Given the description of an element on the screen output the (x, y) to click on. 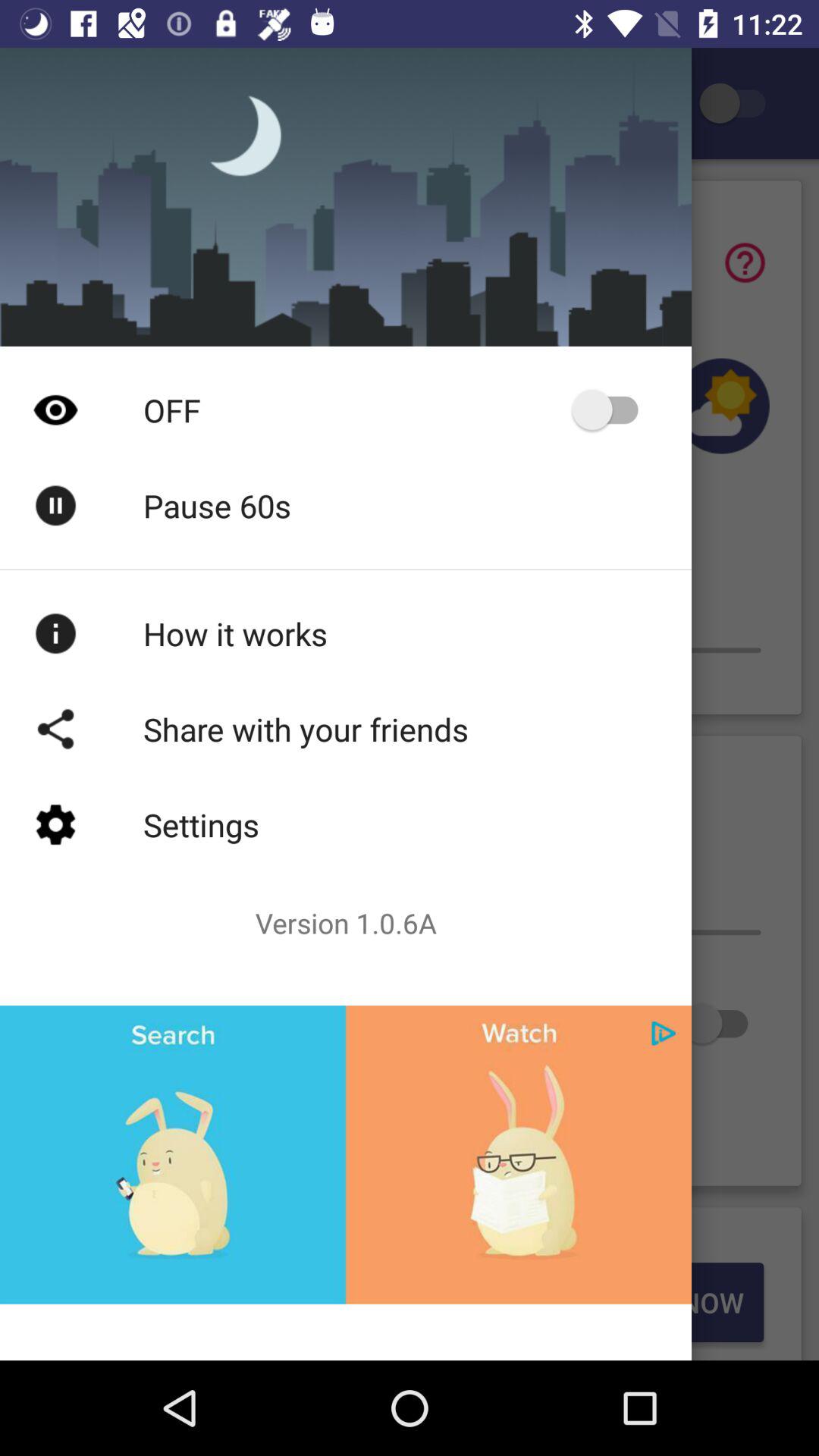
autoplay page (612, 409)
